Given the description of an element on the screen output the (x, y) to click on. 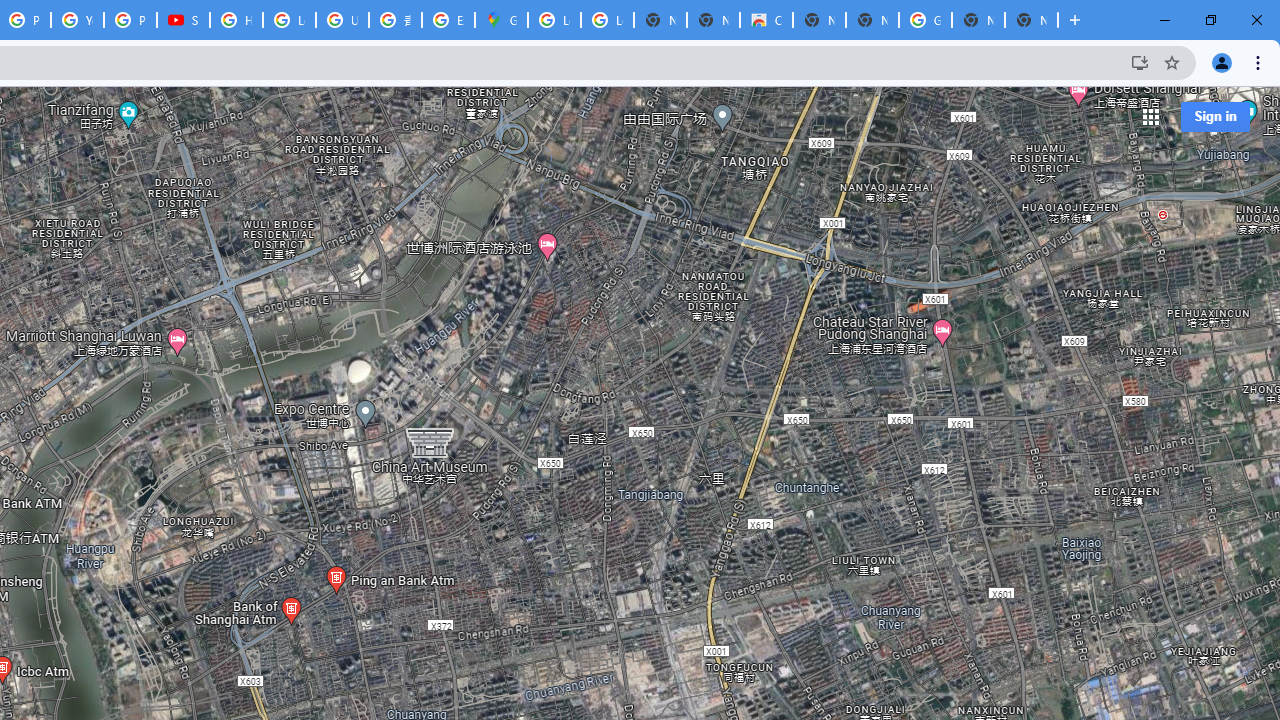
YouTube (77, 20)
Google Maps (501, 20)
New Tab (1031, 20)
Install Google Maps (1139, 62)
Explore new street-level details - Google Maps Help (448, 20)
Subscriptions - YouTube (183, 20)
